Given the description of an element on the screen output the (x, y) to click on. 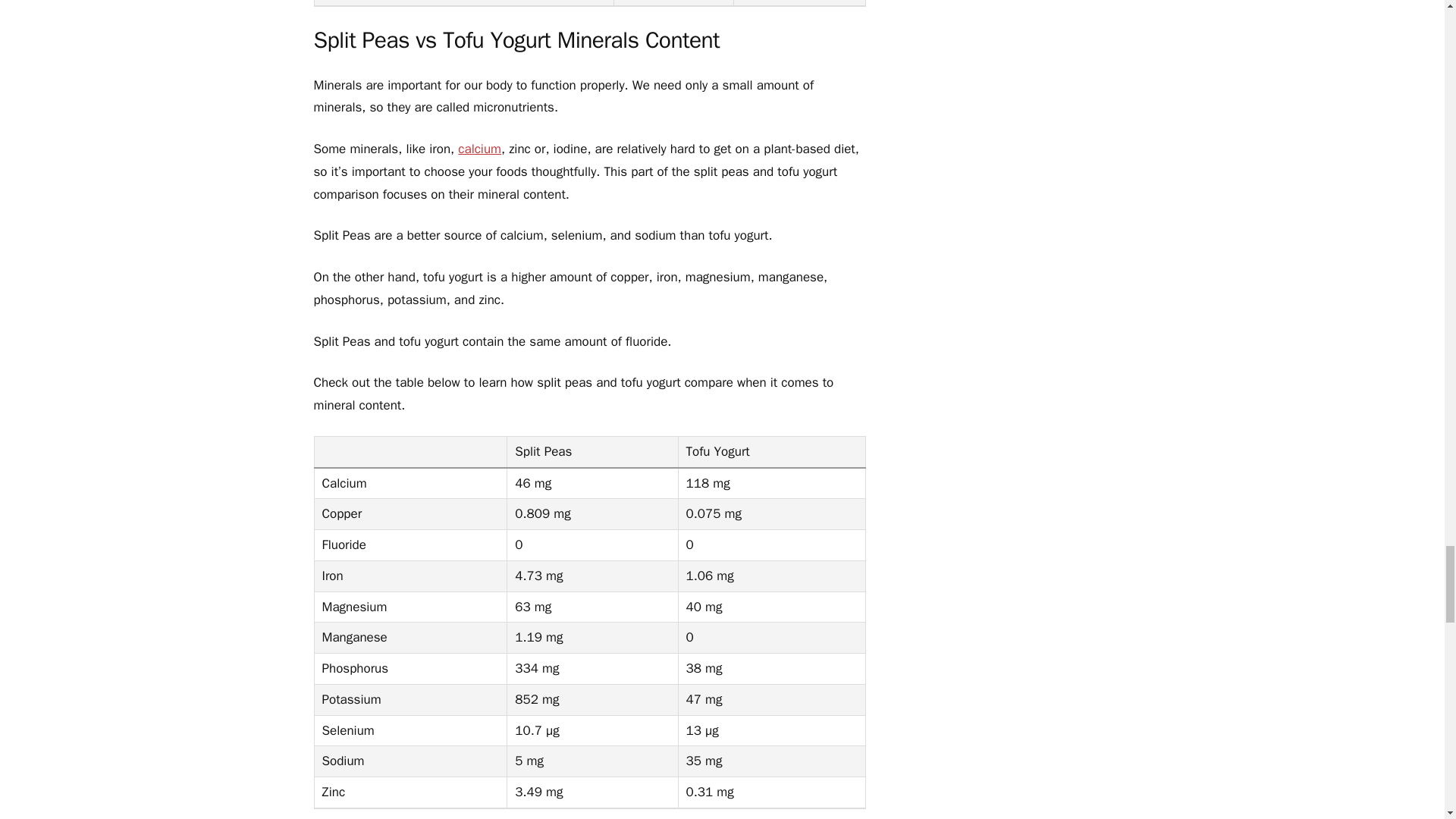
calcium (479, 148)
